Given the description of an element on the screen output the (x, y) to click on. 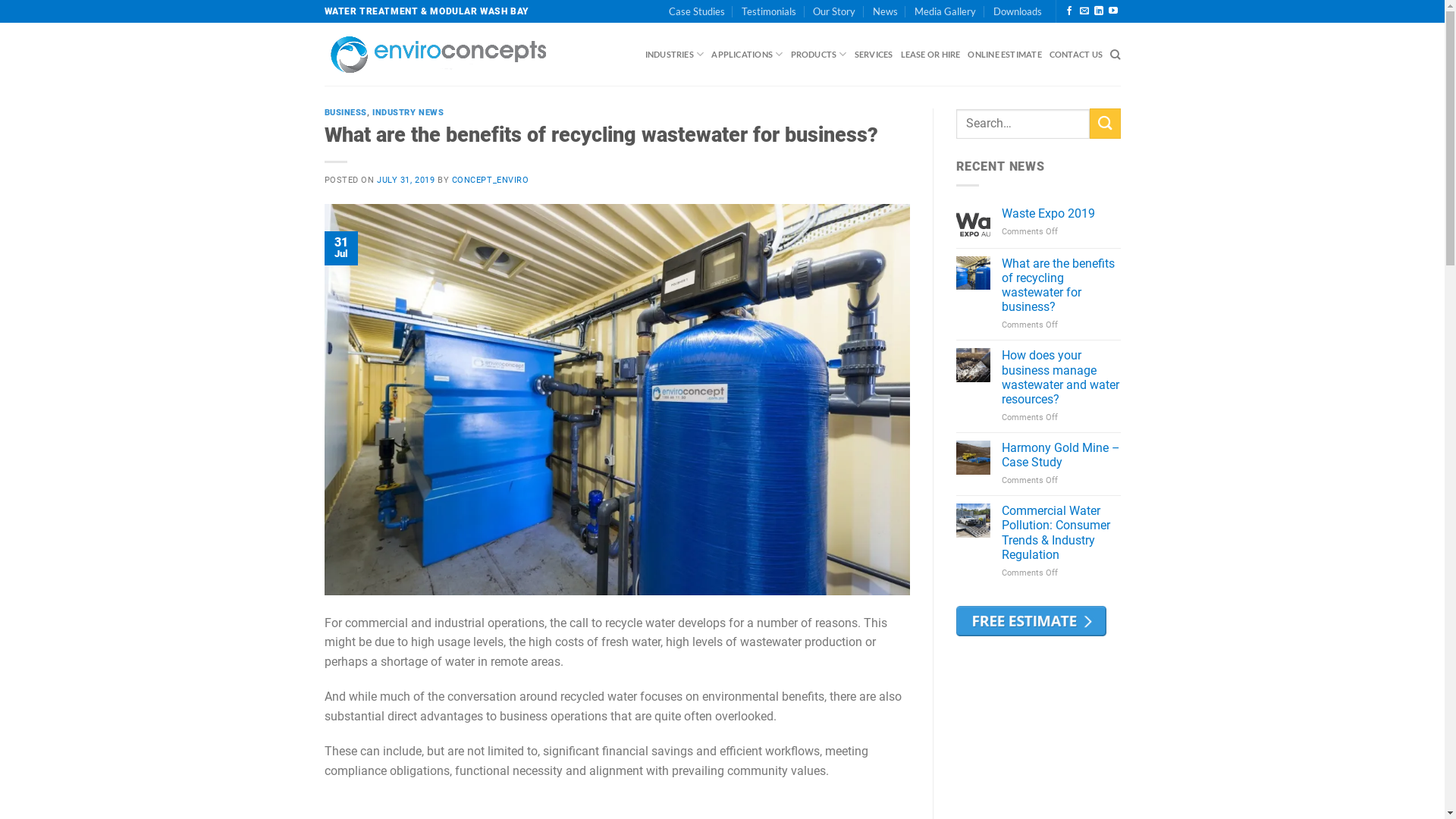
LEASE OR HIRE Element type: text (930, 54)
What are the benefits of recycling wastewater for business? Element type: text (1060, 285)
Testimonials Element type: text (768, 11)
INDUSTRY NEWS Element type: text (407, 112)
Our Story Element type: text (833, 11)
CONCEPT_ENVIRO Element type: text (490, 180)
Follow on LinkedIn Element type: hover (1098, 11)
ONLINE ESTIMATE Element type: text (1004, 54)
Downloads Element type: text (1017, 11)
APPLICATIONS Element type: text (746, 54)
Media Gallery Element type: text (944, 11)
CONTACT US Element type: text (1075, 54)
Waste Expo 2019 Element type: text (1060, 213)
BUSINESS Element type: text (345, 112)
PRODUCTS Element type: text (818, 54)
JULY 31, 2019 Element type: text (405, 180)
Follow on Facebook Element type: hover (1068, 11)
Send us an email Element type: hover (1083, 11)
News Element type: text (884, 11)
SERVICES Element type: text (873, 54)
Case Studies Element type: text (696, 11)
Follow on YouTube Element type: hover (1112, 11)
INDUSTRIES Element type: text (674, 54)
